Given the description of an element on the screen output the (x, y) to click on. 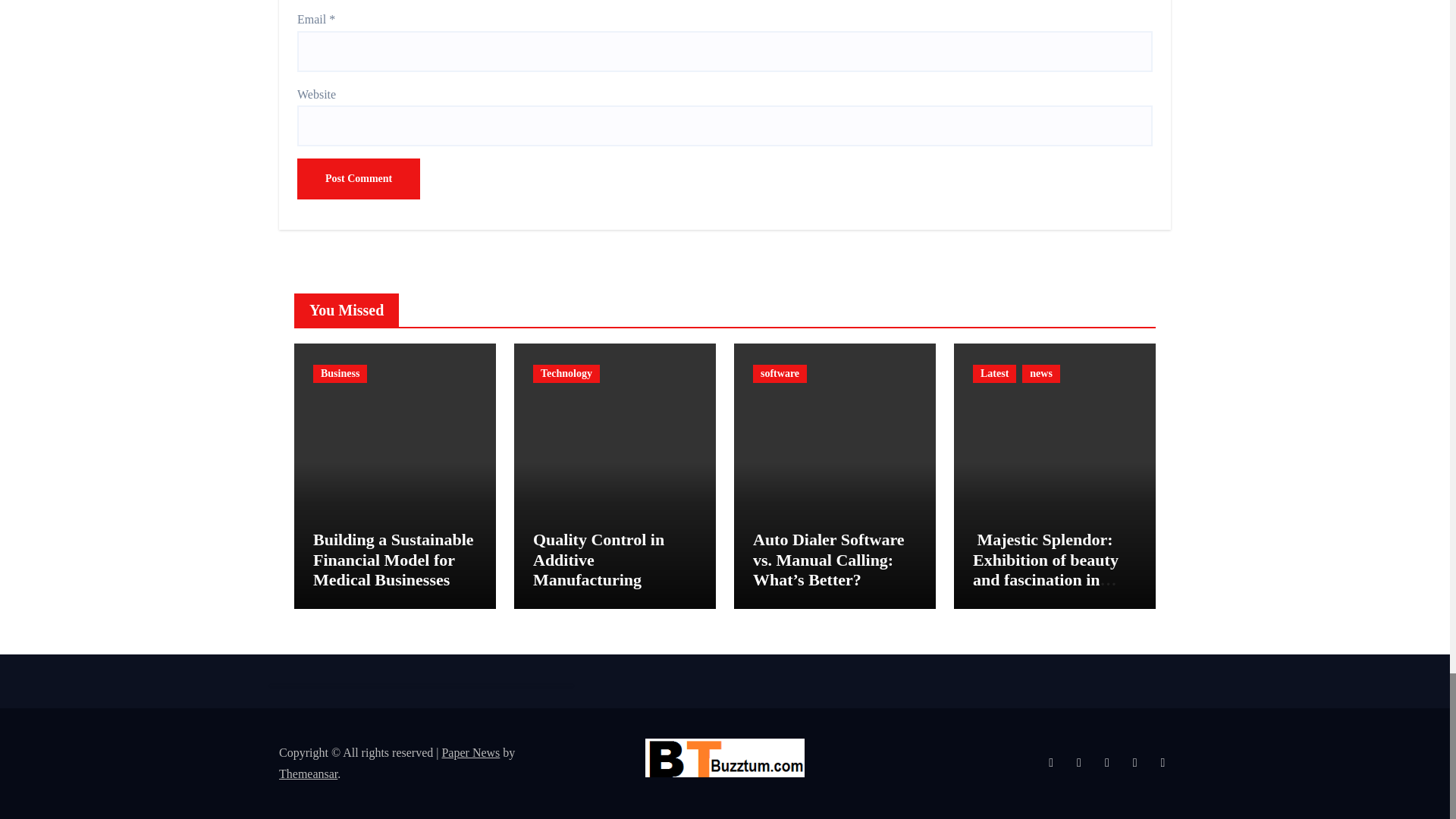
Permalink to: Quality Control in Additive Manufacturing (597, 558)
Post Comment (358, 178)
